Given the description of an element on the screen output the (x, y) to click on. 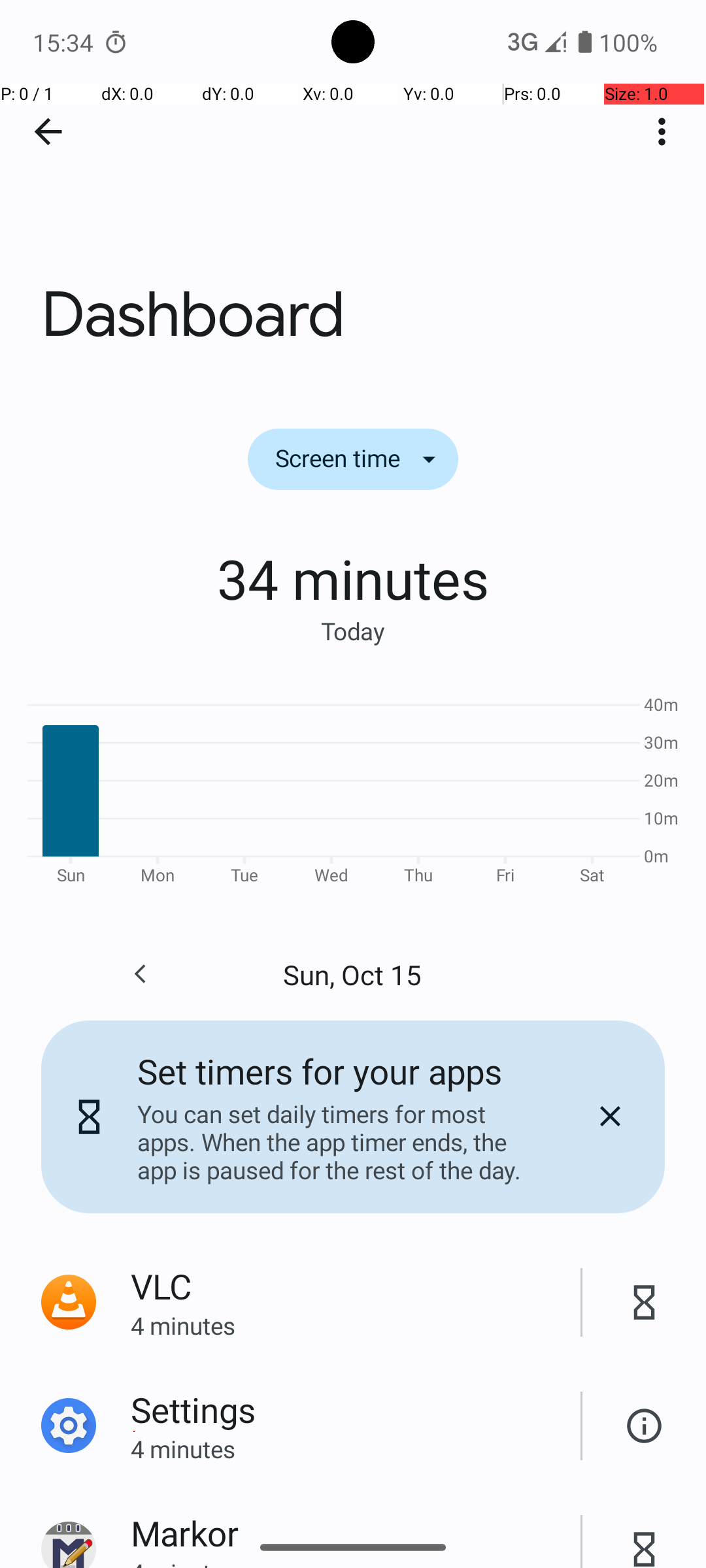
Dashboard Element type: android.widget.FrameLayout (353, 195)
Screen time Element type: android.widget.Spinner (352, 459)
34 minutes Element type: android.widget.TextView (353, 577)
Go to the previous day Element type: android.widget.Button (139, 973)
Set timers for your apps Element type: android.widget.TextView (319, 1070)
You can set daily timers for most apps. When the app timer ends, the app is paused for the rest of the day. Element type: android.widget.TextView (339, 1141)
Dismiss card Element type: android.widget.Button (609, 1116)
4 minutes Element type: android.widget.TextView (355, 1325)
No timer set for VLC Element type: android.widget.FrameLayout (644, 1302)
Can't set timer Element type: android.widget.FrameLayout (644, 1425)
No timer set for Markor Element type: android.widget.FrameLayout (644, 1534)
Bar Chart. Showing Phone usage data with 7 data points. Element type: android.view.ViewGroup (353, 787)
